Given the description of an element on the screen output the (x, y) to click on. 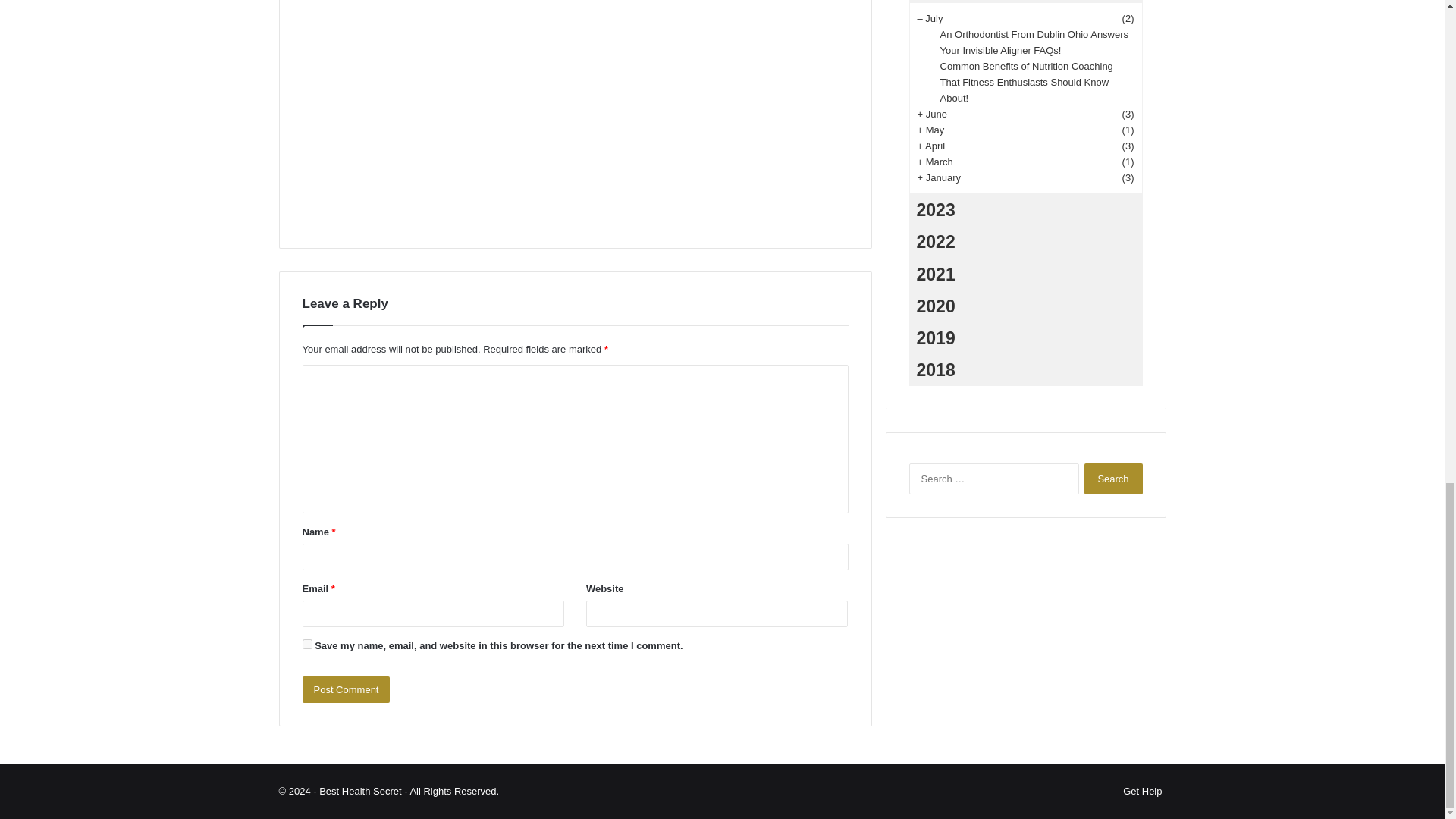
yes (306, 644)
Post Comment (345, 689)
2023 (1025, 210)
Search (1113, 478)
Post Comment (345, 689)
Search (1113, 478)
